Given the description of an element on the screen output the (x, y) to click on. 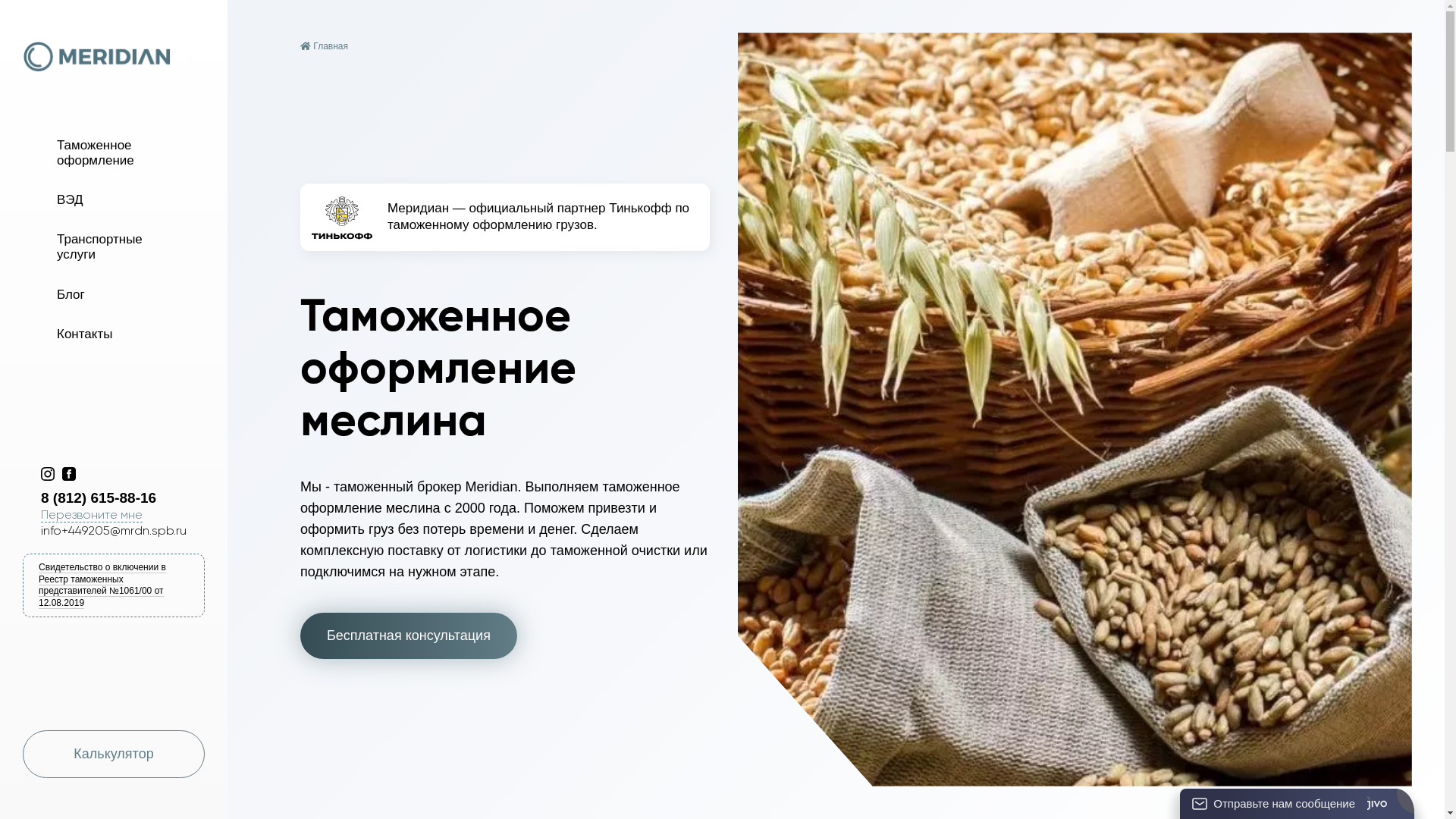
8 (812) 615-88-16 Element type: text (122, 497)
info+449205@mrdn.spb.ru Element type: text (113, 530)
